Given the description of an element on the screen output the (x, y) to click on. 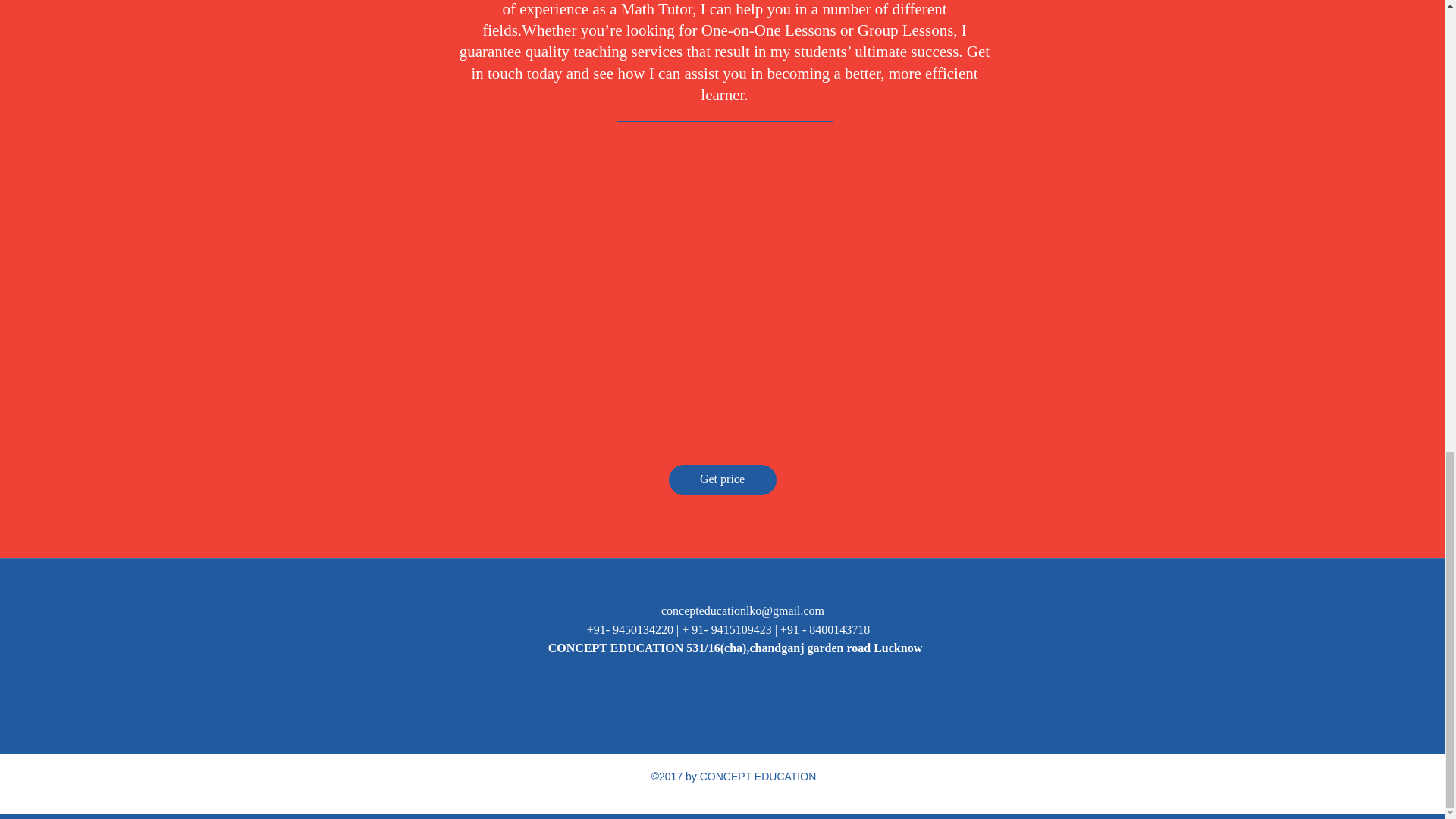
Get price (722, 480)
